Given the description of an element on the screen output the (x, y) to click on. 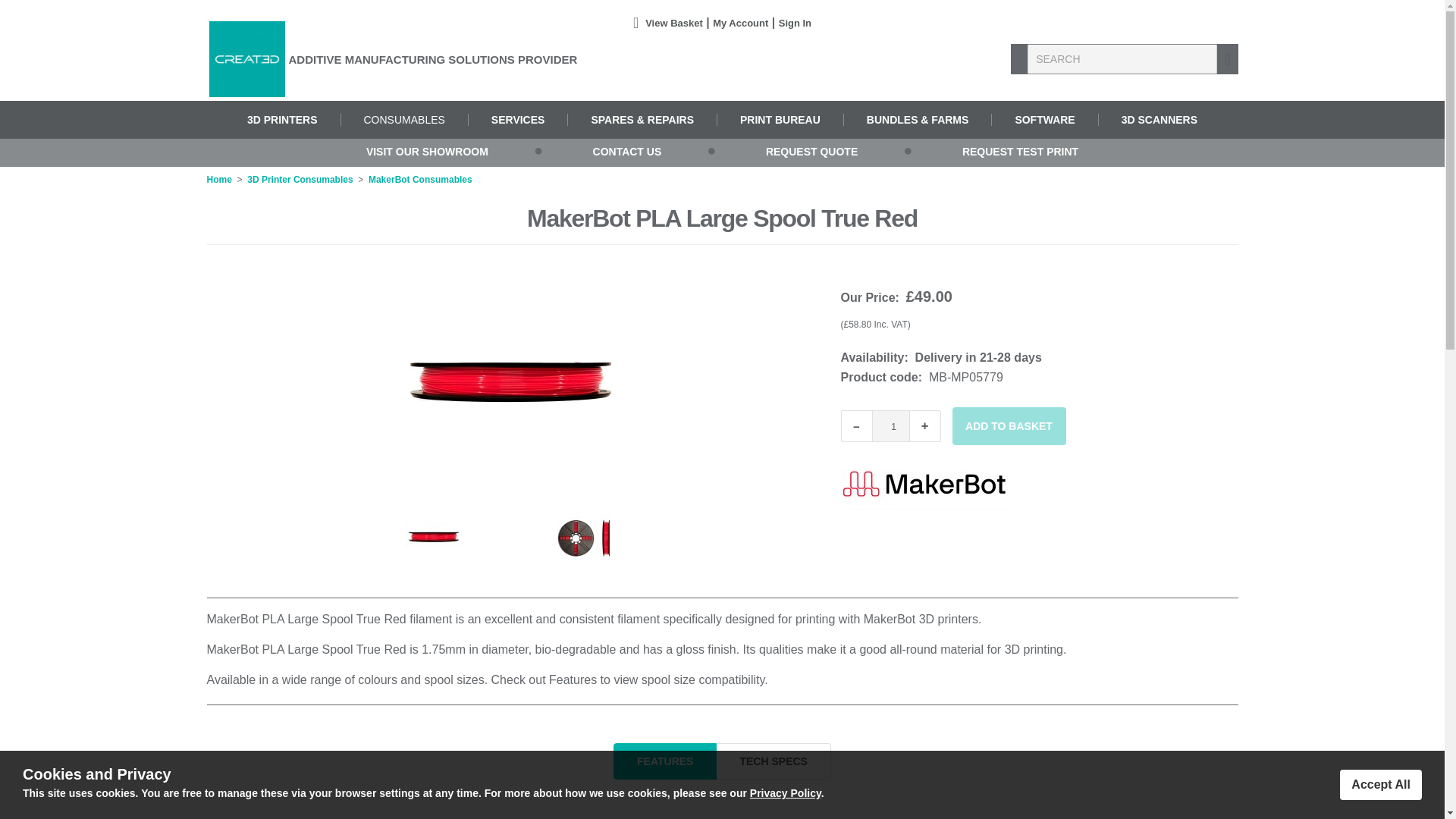
TECH SPECS (772, 760)
1 (891, 426)
MakerBot PLA Large Spool True Red (507, 388)
ADD TO BASKET (1008, 426)
View our range of 3D printers (282, 119)
3D printer filament, cartridges and materials (403, 119)
FEATURES (665, 760)
